Given the description of an element on the screen output the (x, y) to click on. 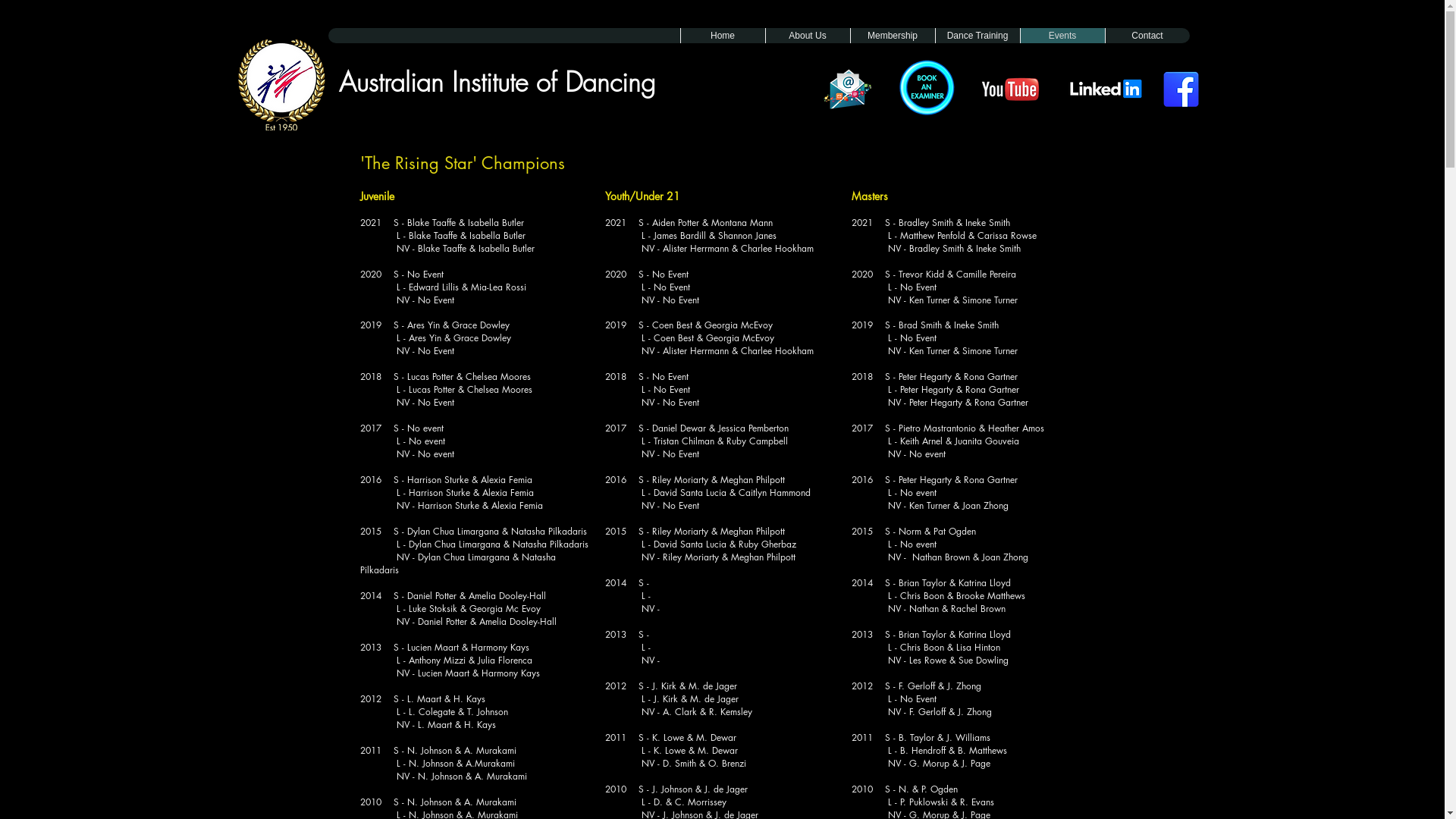
About Us Element type: text (806, 35)
Dance Training Element type: text (976, 35)
Contact Element type: text (1146, 35)
Home Element type: text (721, 35)
Membership Element type: text (891, 35)
Events Element type: text (1061, 35)
